Given the description of an element on the screen output the (x, y) to click on. 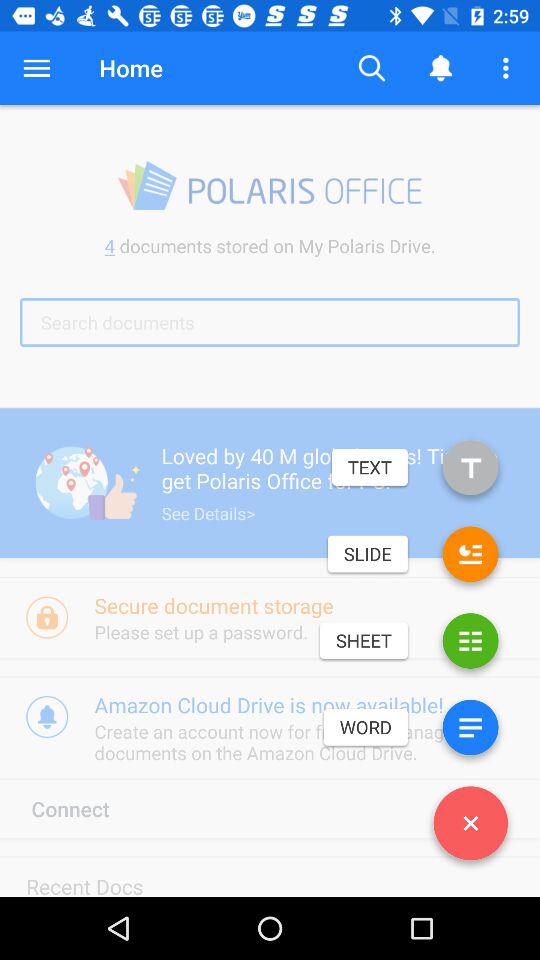
open text app (470, 471)
